Given the description of an element on the screen output the (x, y) to click on. 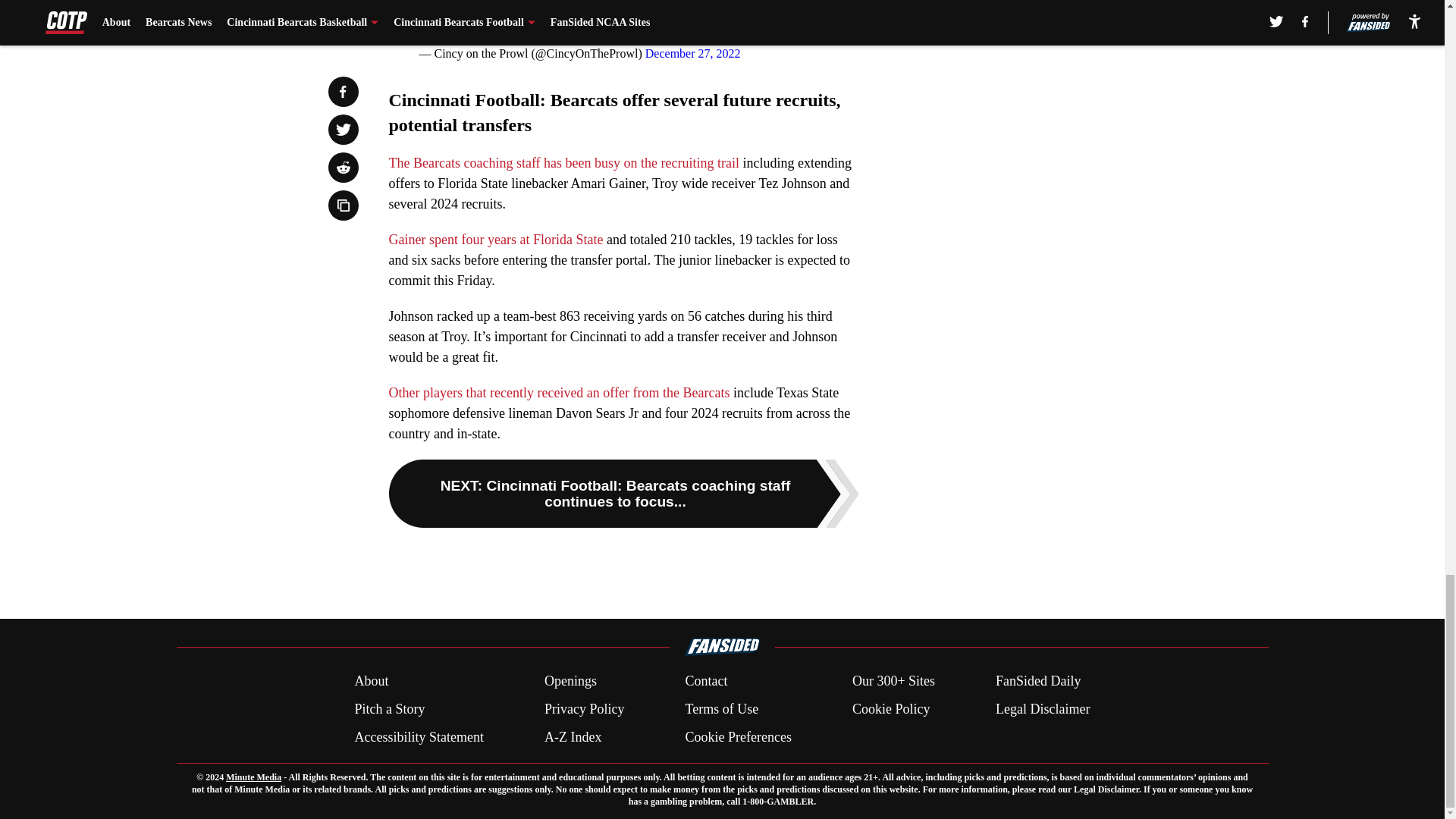
December 27, 2022 (693, 52)
Gainer spent four years at Florida State (495, 239)
